Given the description of an element on the screen output the (x, y) to click on. 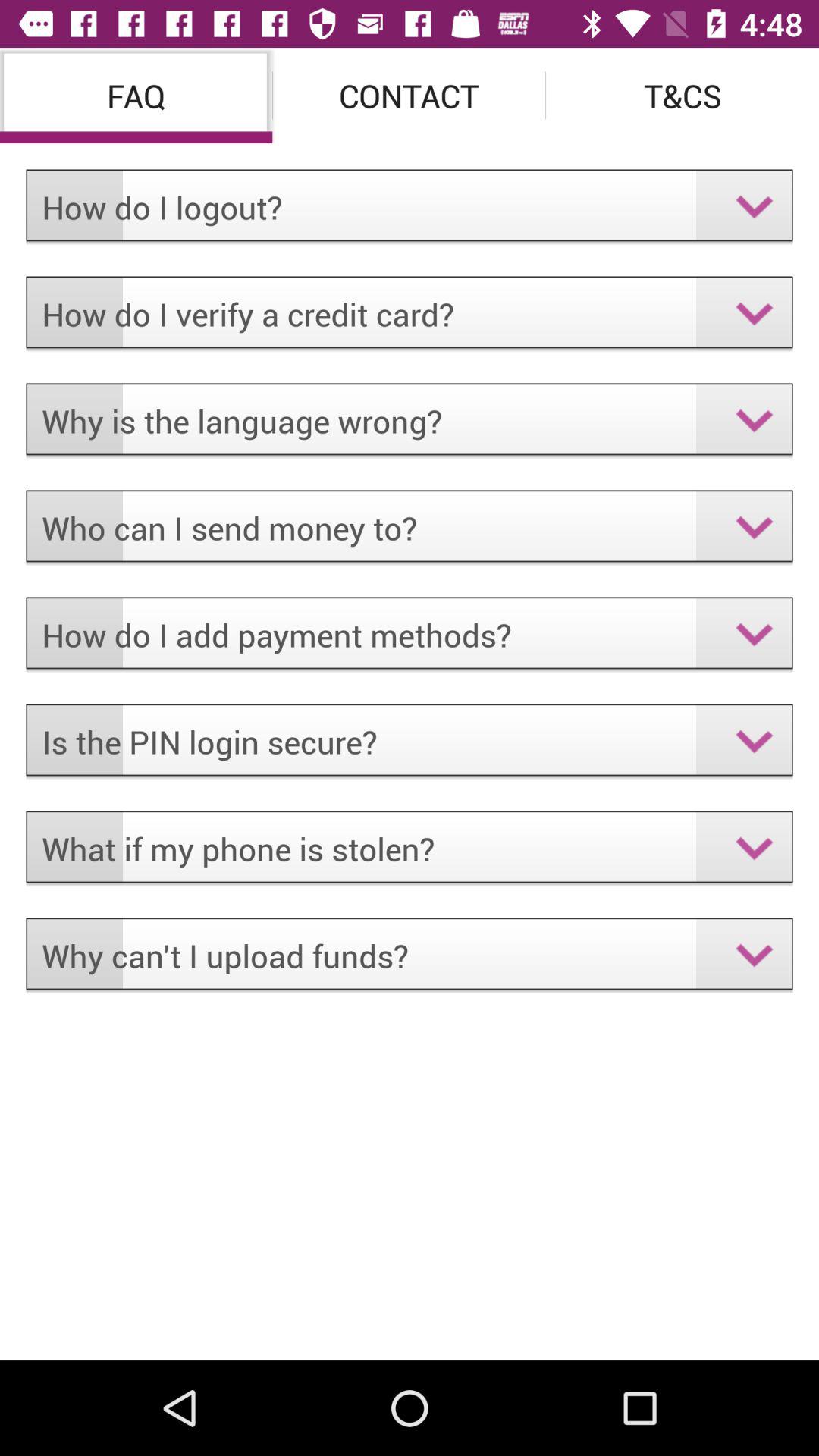
click contact item (409, 95)
